Given the description of an element on the screen output the (x, y) to click on. 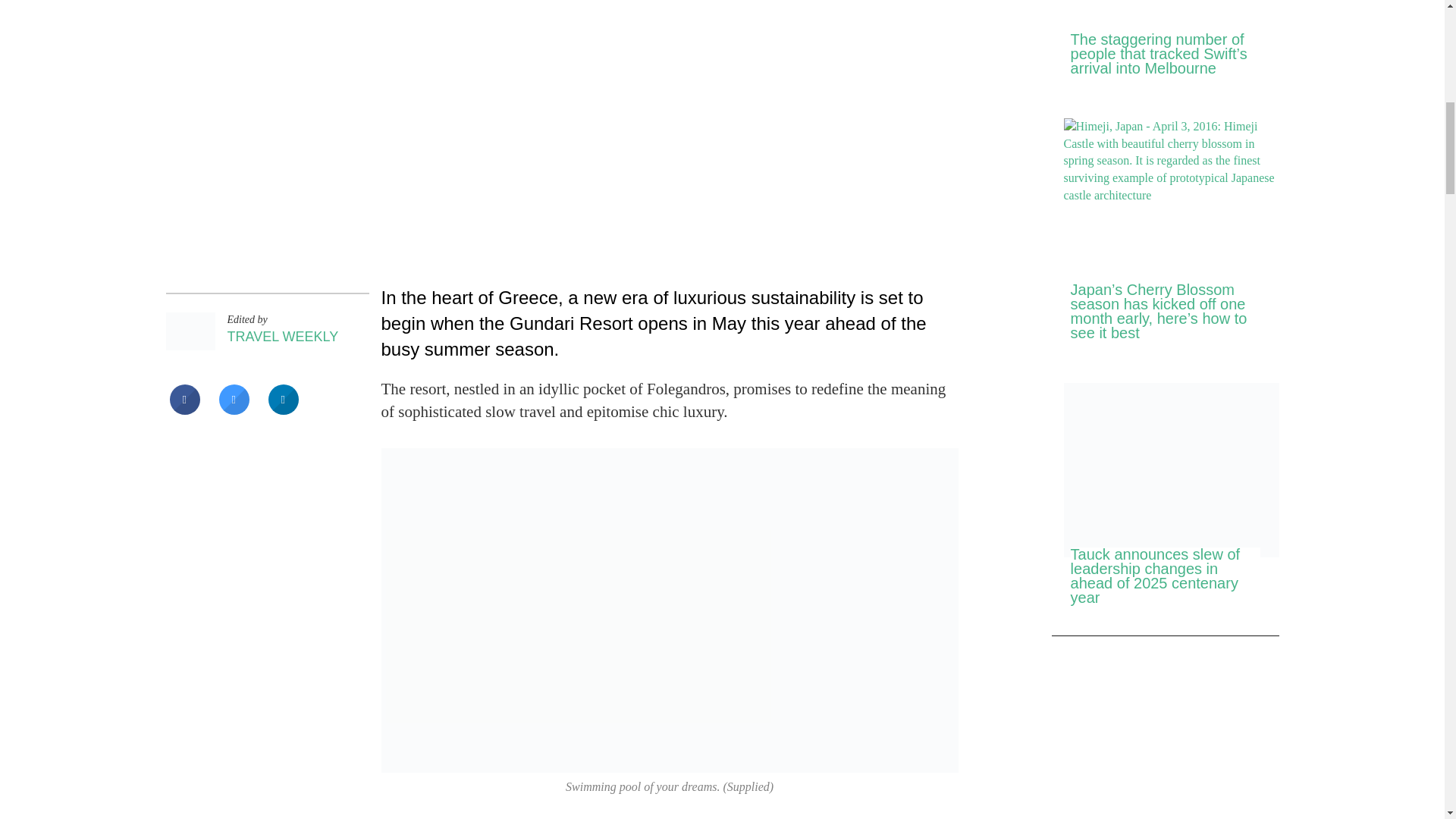
Share to LinkedIn (282, 410)
Share on Twitter (233, 410)
Share on Facebook (185, 410)
